Given the description of an element on the screen output the (x, y) to click on. 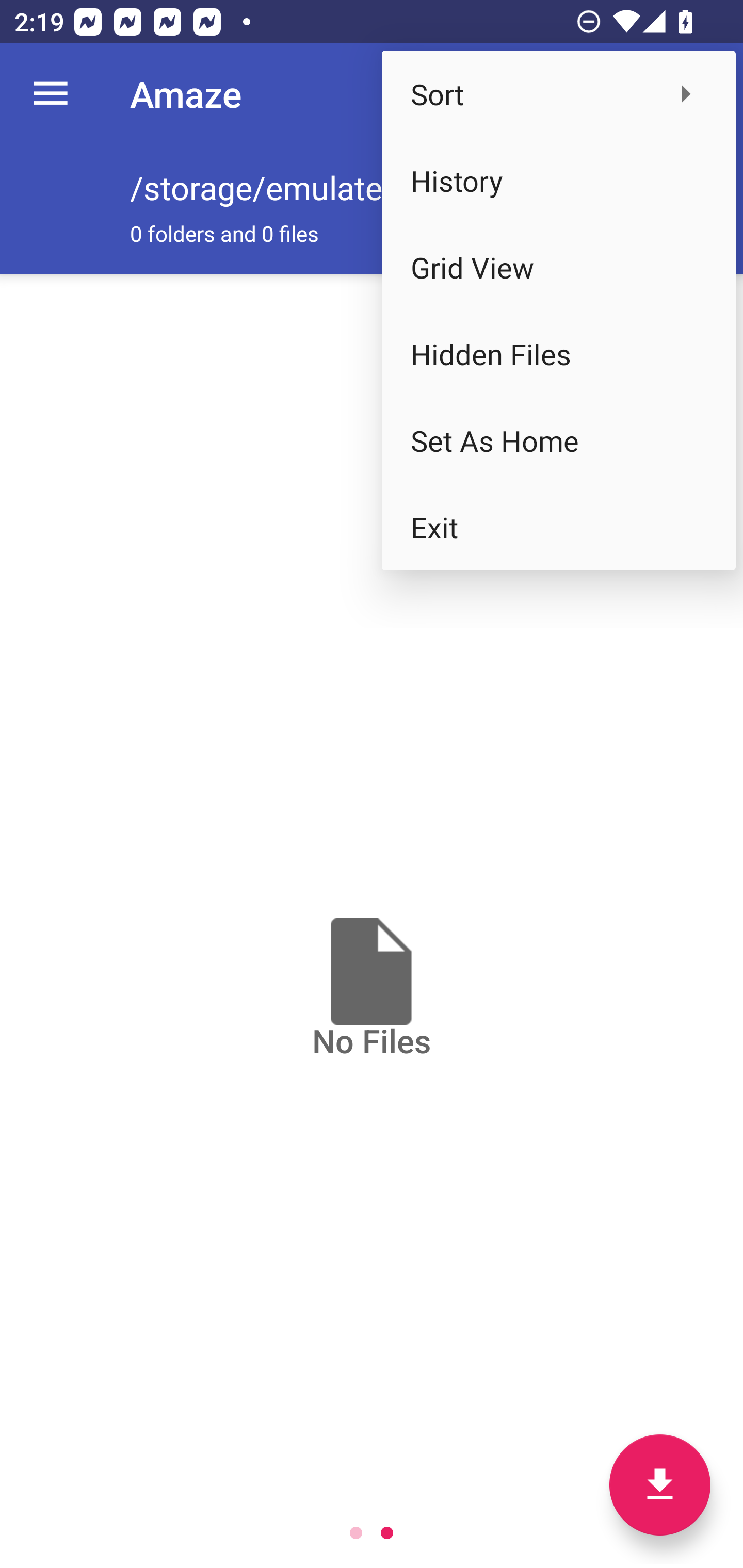
Sort (558, 93)
History (558, 180)
Grid View (558, 267)
Hidden Files (558, 353)
Set As Home (558, 440)
Exit (558, 527)
